Given the description of an element on the screen output the (x, y) to click on. 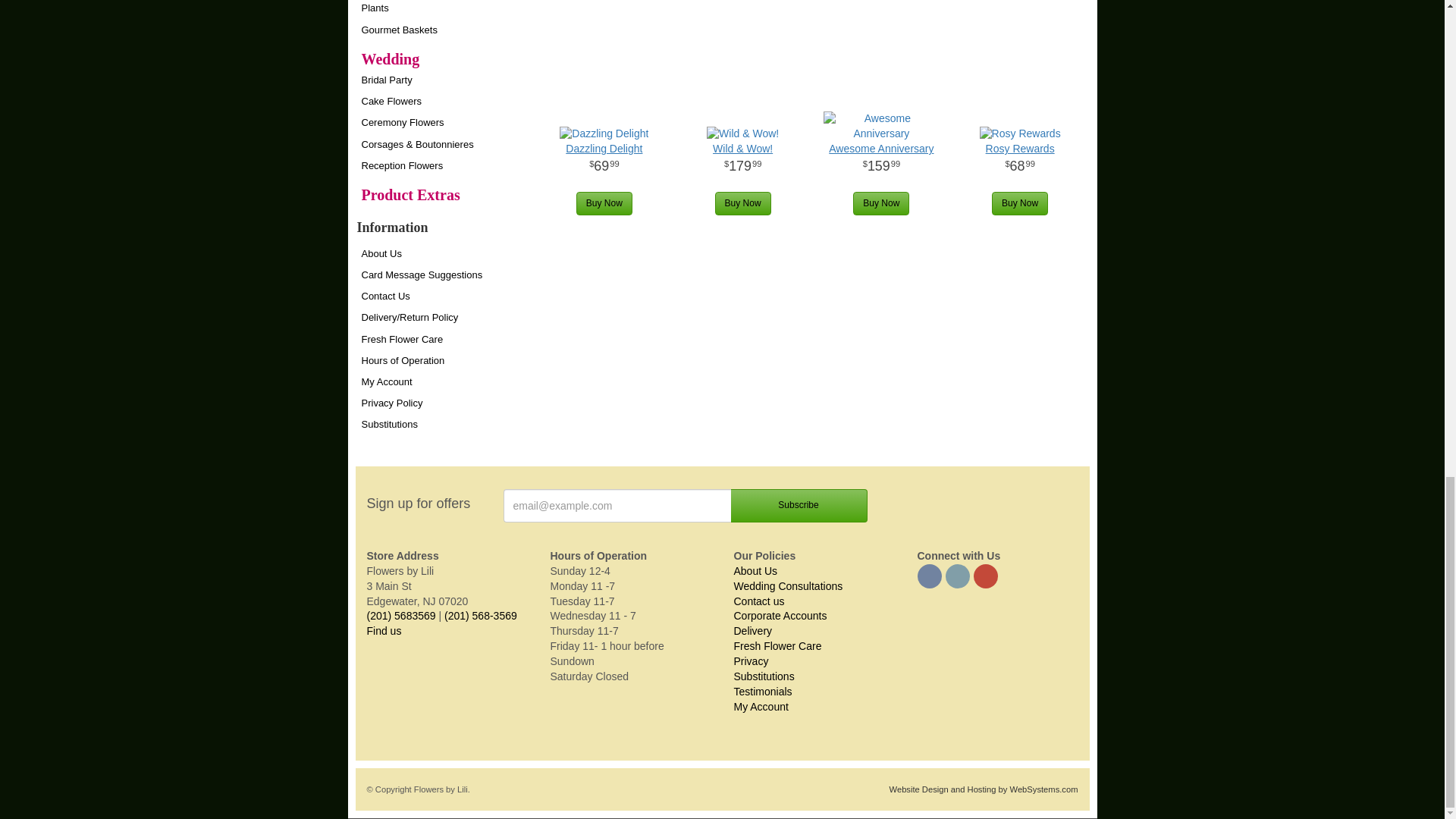
Subscribe (798, 505)
